Given the description of an element on the screen output the (x, y) to click on. 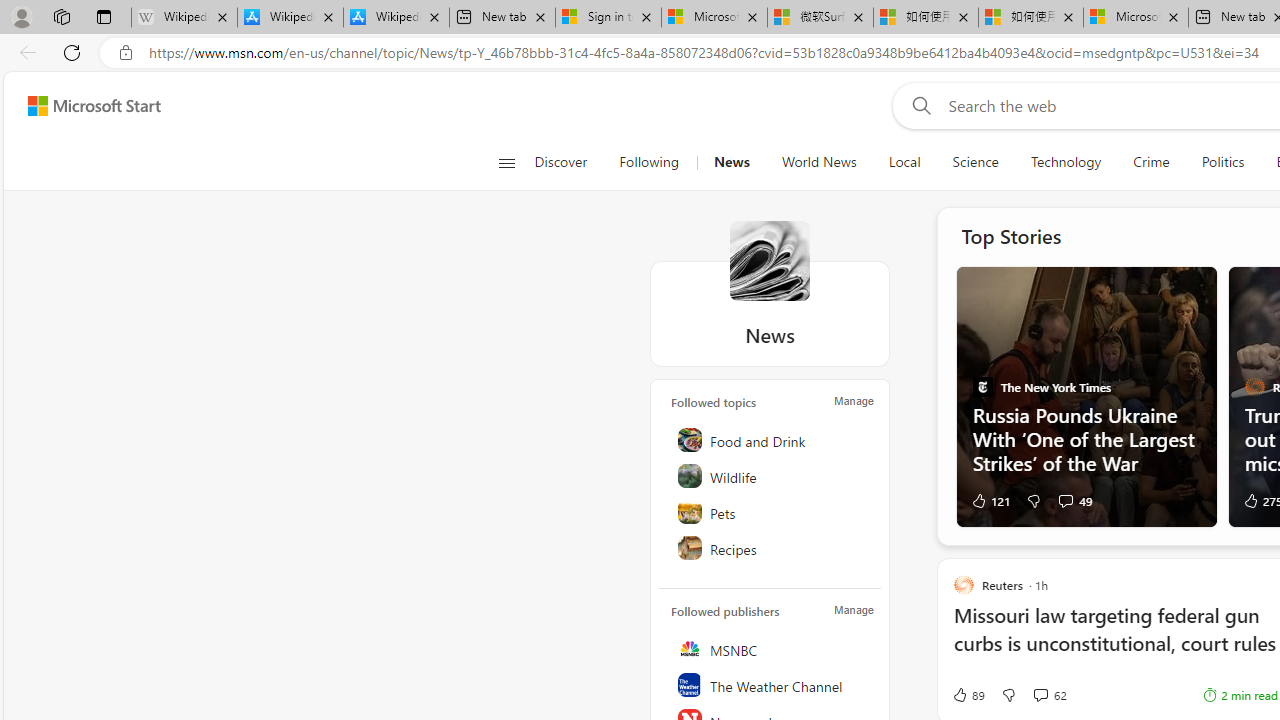
View comments 49 Comment (1074, 500)
Local (904, 162)
121 Like (989, 500)
Technology (1065, 162)
Science (975, 162)
Class: button-glyph (505, 162)
Politics (1222, 162)
Local (903, 162)
Wikipedia - Sleeping (183, 17)
89 Like (968, 695)
News (731, 162)
Microsoft Start (94, 105)
